Given the description of an element on the screen output the (x, y) to click on. 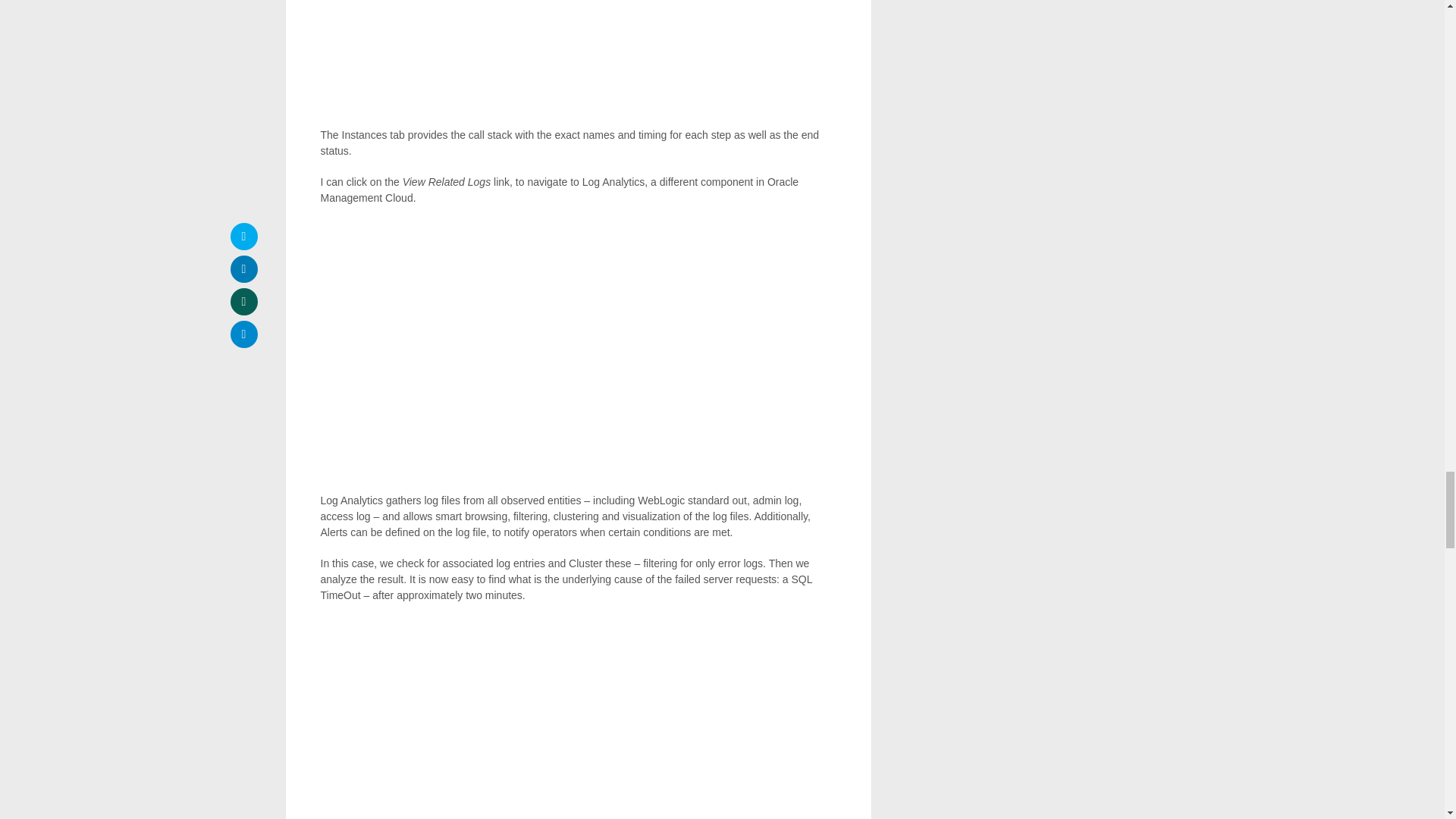
image (577, 349)
image (578, 56)
SNAGHTML5349fcb (577, 719)
